Given the description of an element on the screen output the (x, y) to click on. 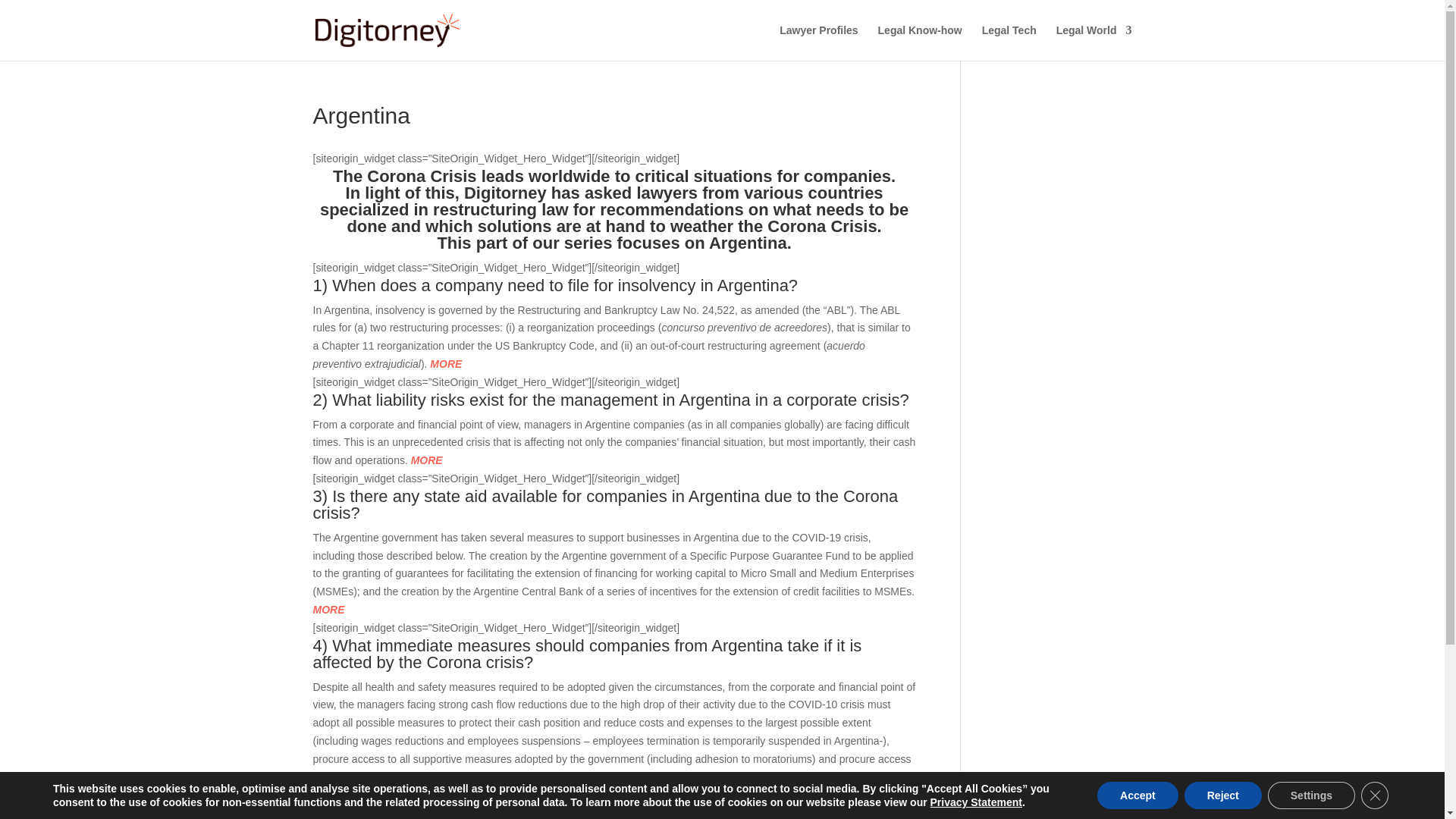
Close GDPR Cookie Banner (1375, 795)
Legal Know-how (919, 42)
MORE (428, 776)
Lawyer Profiles (818, 42)
Privacy Statement (976, 802)
MORE (445, 363)
Reject (1223, 795)
MORE (328, 609)
Accept (1137, 795)
Legal Tech (1008, 42)
